Given the description of an element on the screen output the (x, y) to click on. 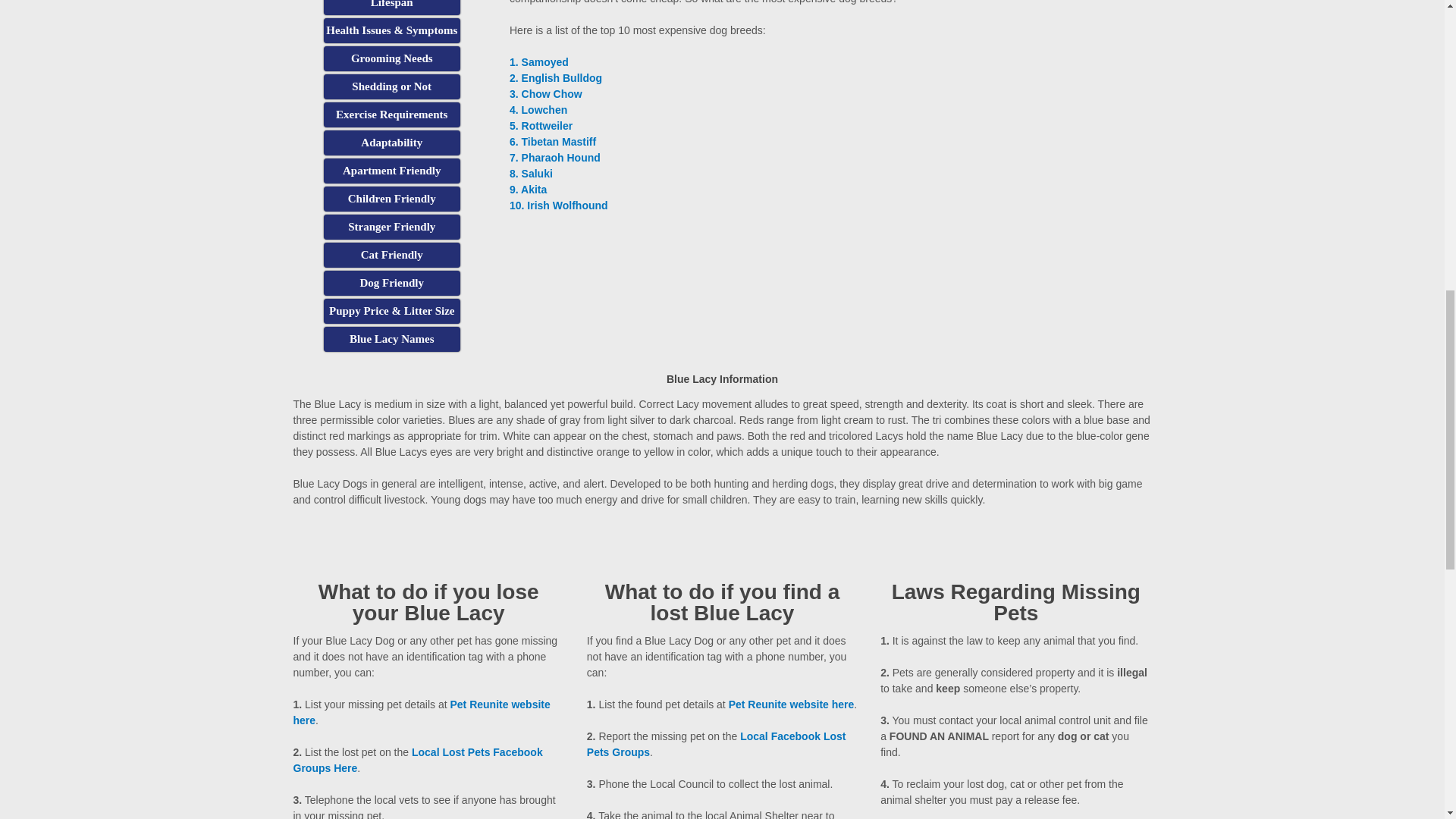
Do Blue Lacy Dogs need lots of exercise? (391, 114)
What is the lifespan of Blue Lacy Dogs? (391, 7)
Do Blue Lacy Dogs needs lot of looking after? (391, 58)
What are the known health problems with Blue Lacy Dogs? (391, 30)
Are Blue Lacy Dogs easy to adapt? (391, 142)
Do Blue Lacy Dogs shed a lot? (391, 86)
Can Blue Lacy Dogs live in apartments? (391, 170)
